Given the description of an element on the screen output the (x, y) to click on. 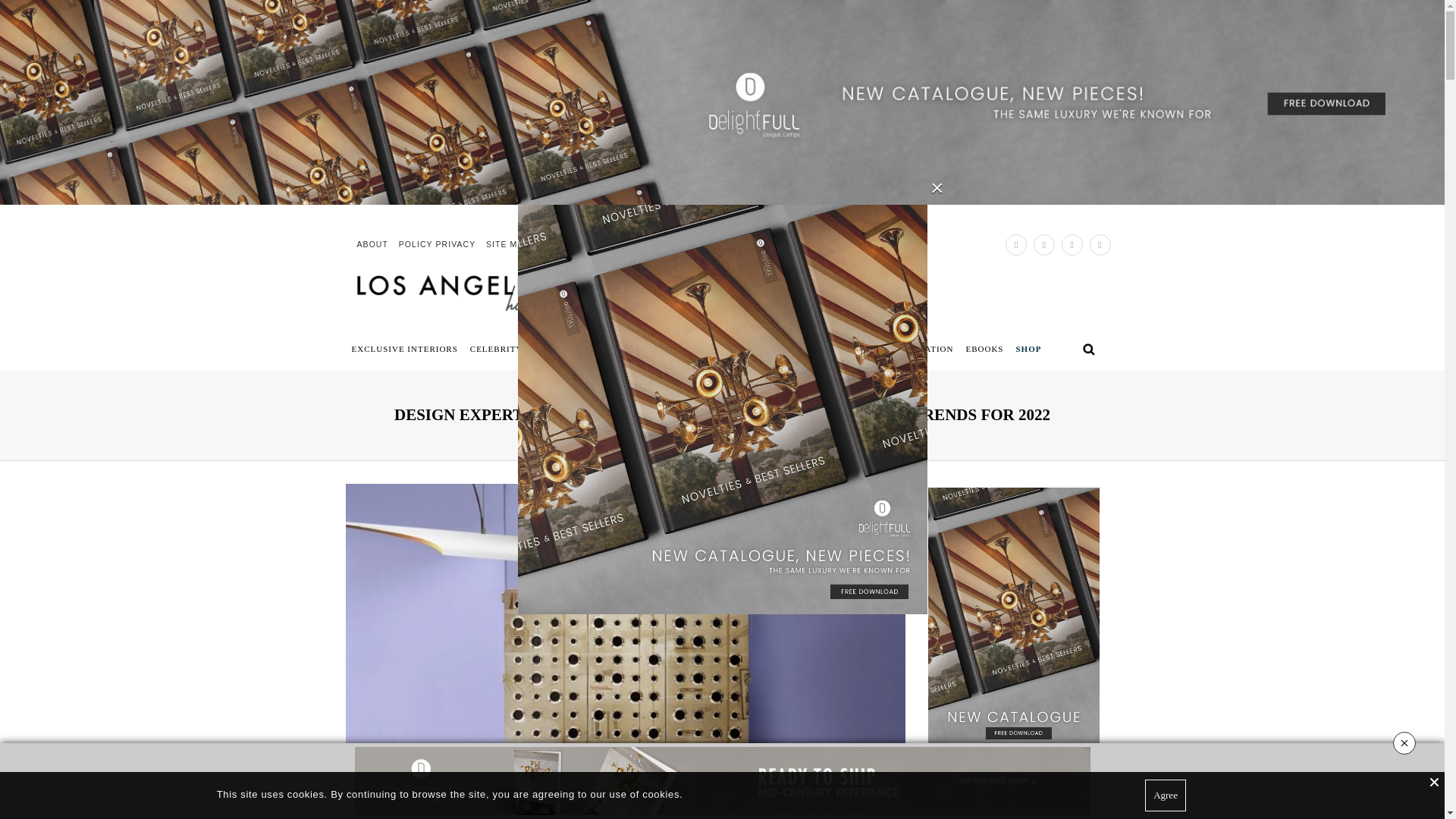
SHOP (1028, 349)
ROOMS INSPIRATION (900, 349)
TRENDING NOW (606, 349)
EBOOKS (983, 349)
LUXURY HOMES (800, 349)
WEST COAST HOMES (703, 349)
SITE MAP (507, 244)
CELEBRITY HOMES (513, 349)
POLICY PRIVACY (437, 244)
EXCLUSIVE INTERIORS (404, 349)
EXCLUSIVE INTERIORS (721, 394)
ABOUT (372, 244)
